Given the description of an element on the screen output the (x, y) to click on. 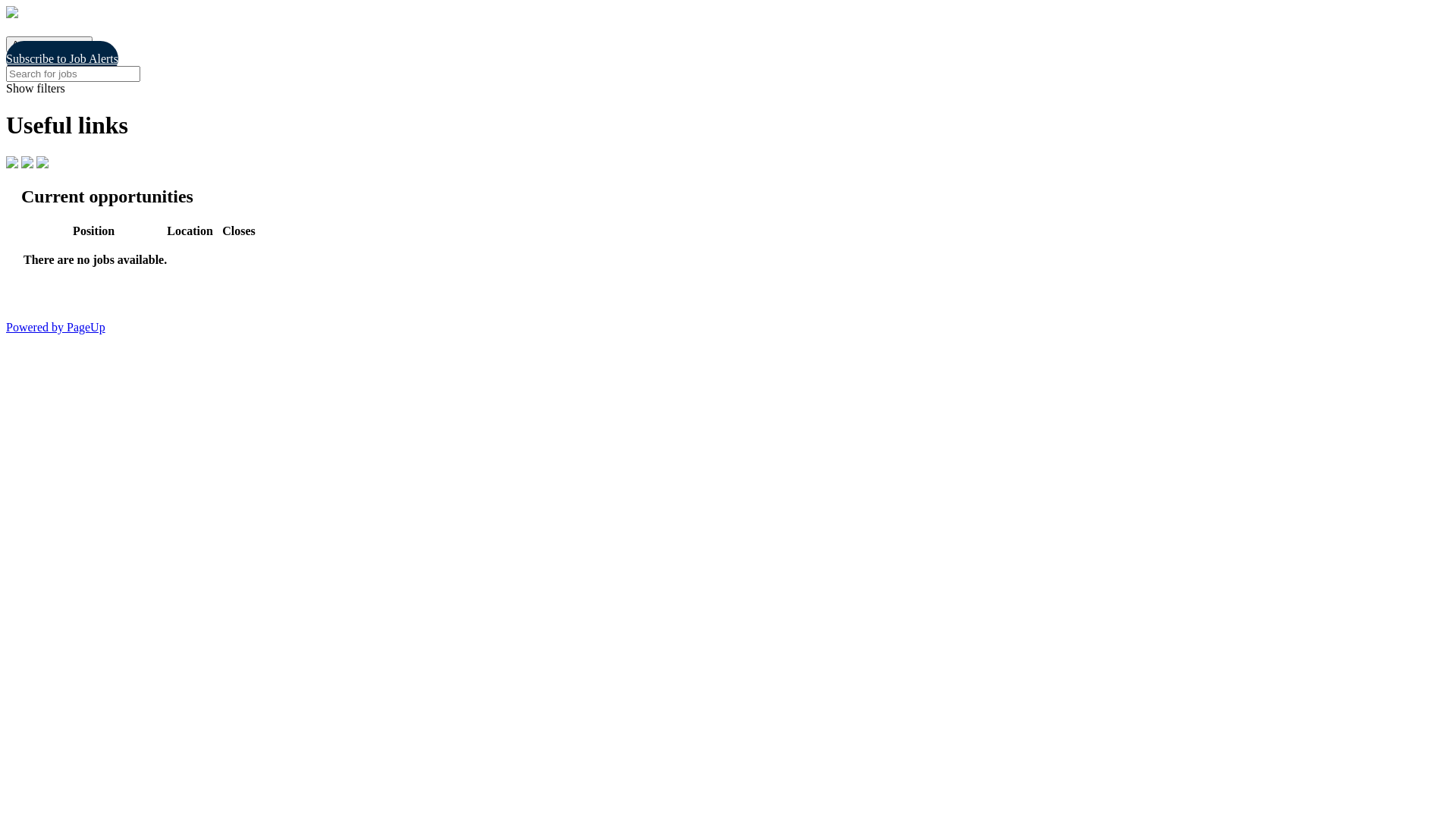
Powered by PageUp Element type: text (55, 326)
Subscribe to Job Alerts Element type: text (62, 58)
Show filters Element type: text (727, 88)
Applicant sign-in Element type: text (49, 44)
